Given the description of an element on the screen output the (x, y) to click on. 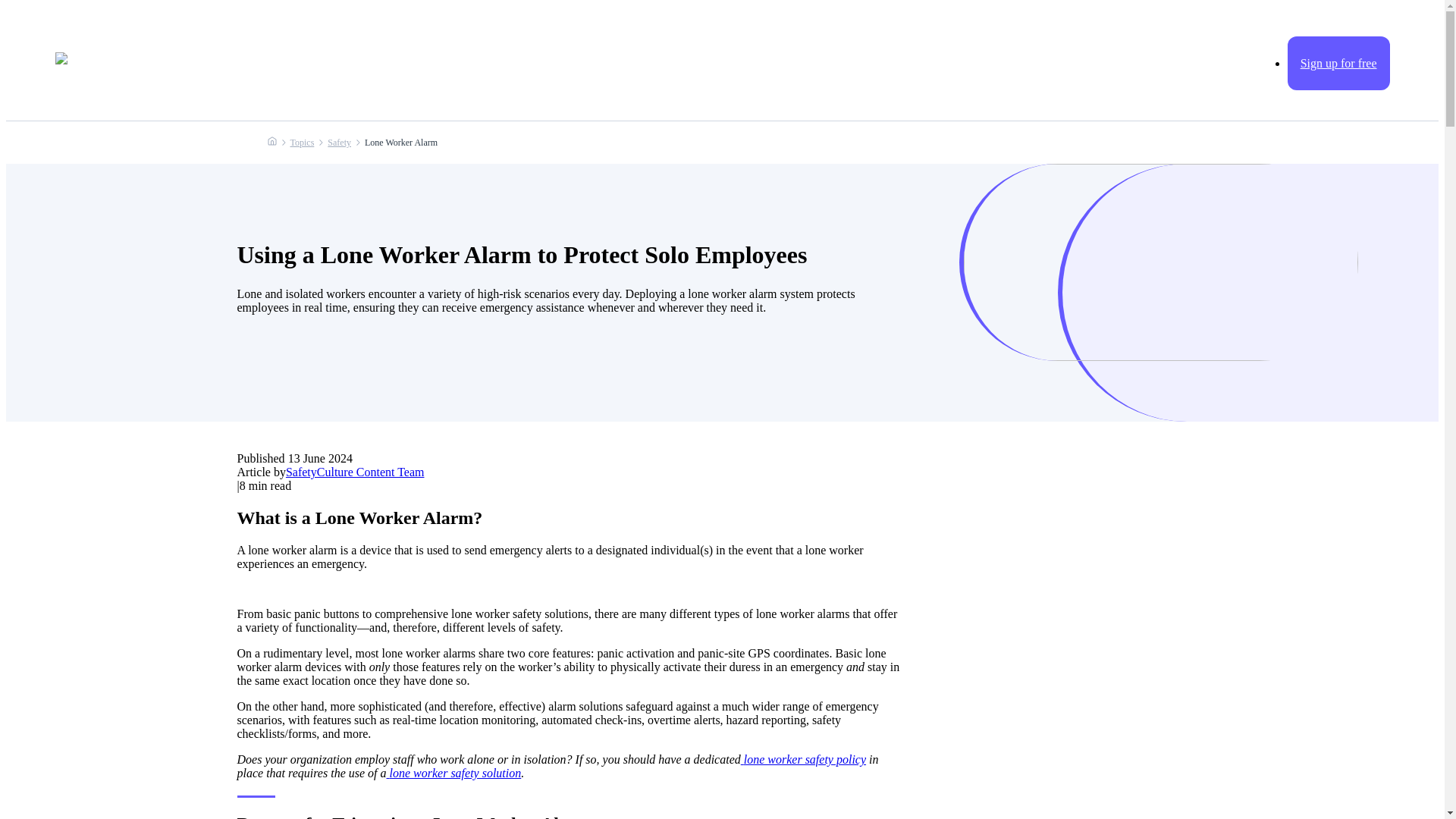
lone worker safety policy (803, 758)
lone worker safety solution (454, 772)
Sign up for free (1338, 63)
Safety (338, 142)
SafetyCulture Content Team (355, 472)
Topics (301, 142)
